Given the description of an element on the screen output the (x, y) to click on. 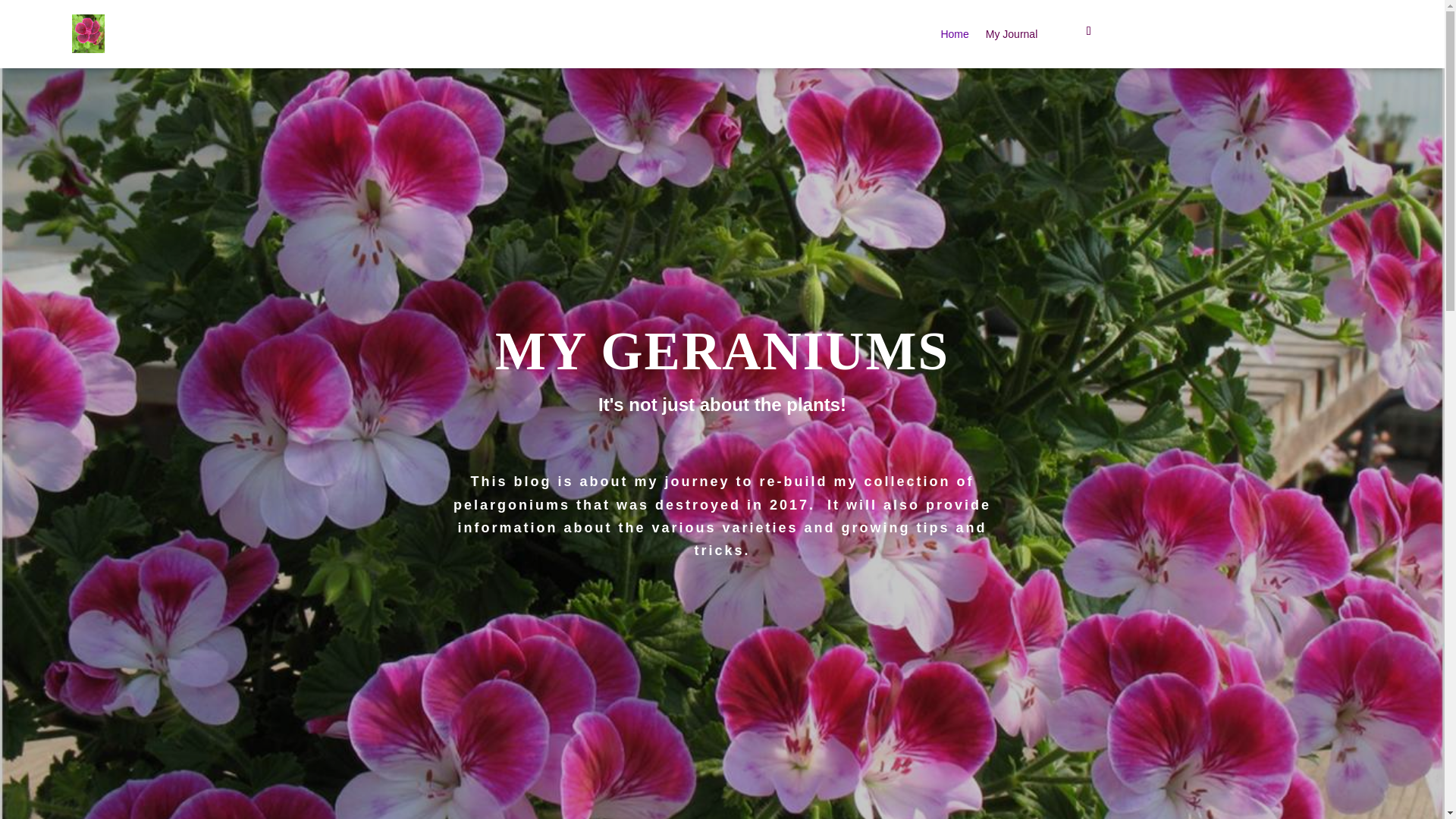
Home (954, 36)
Follow on Facebook (1088, 30)
My Journal (1010, 36)
